Given the description of an element on the screen output the (x, y) to click on. 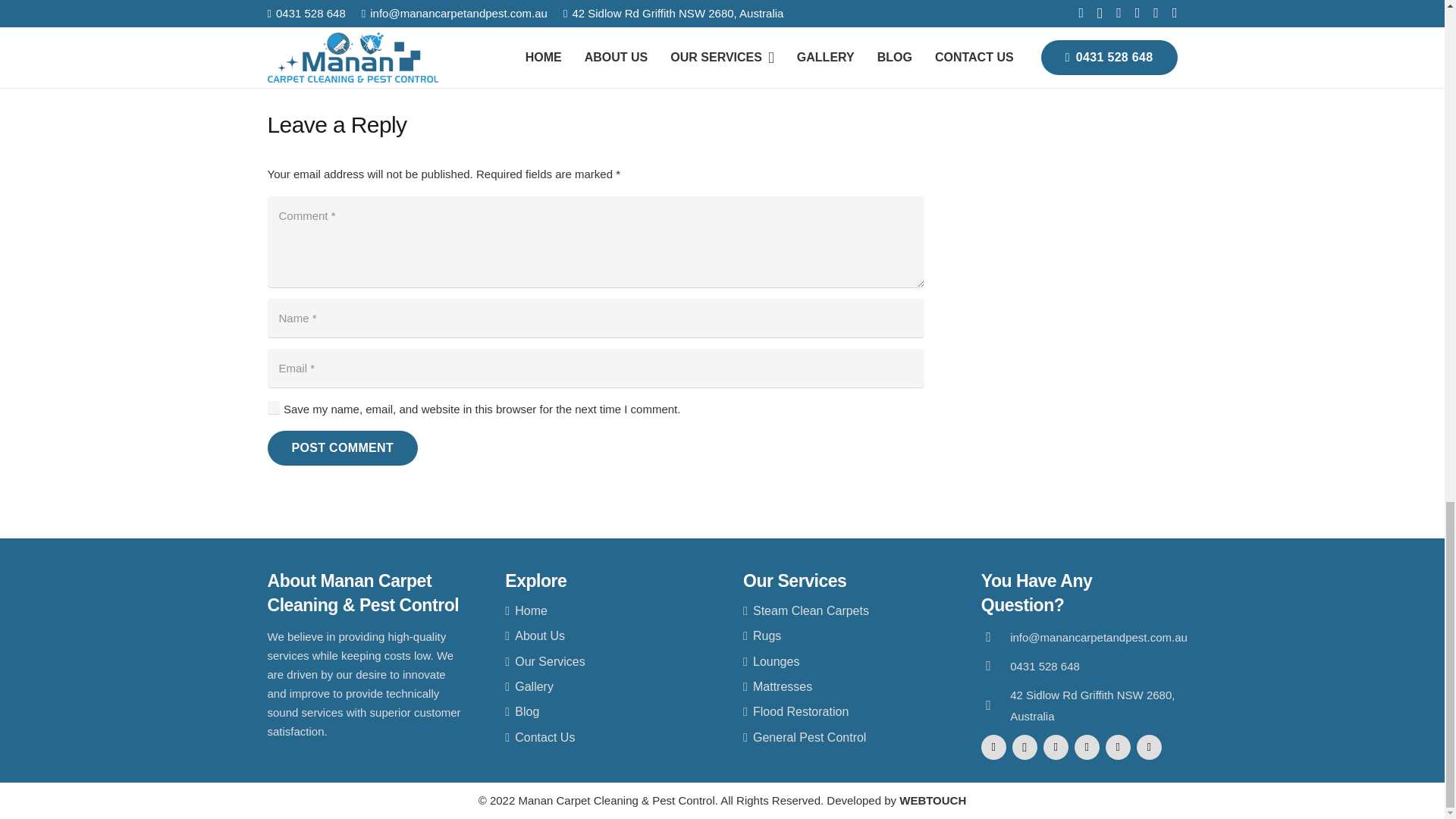
POST COMMENT (341, 447)
Facebook (993, 747)
1 (273, 407)
How to Take Care of Your Persian Rug: Tips That Work Wonder (759, 39)
